Given the description of an element on the screen output the (x, y) to click on. 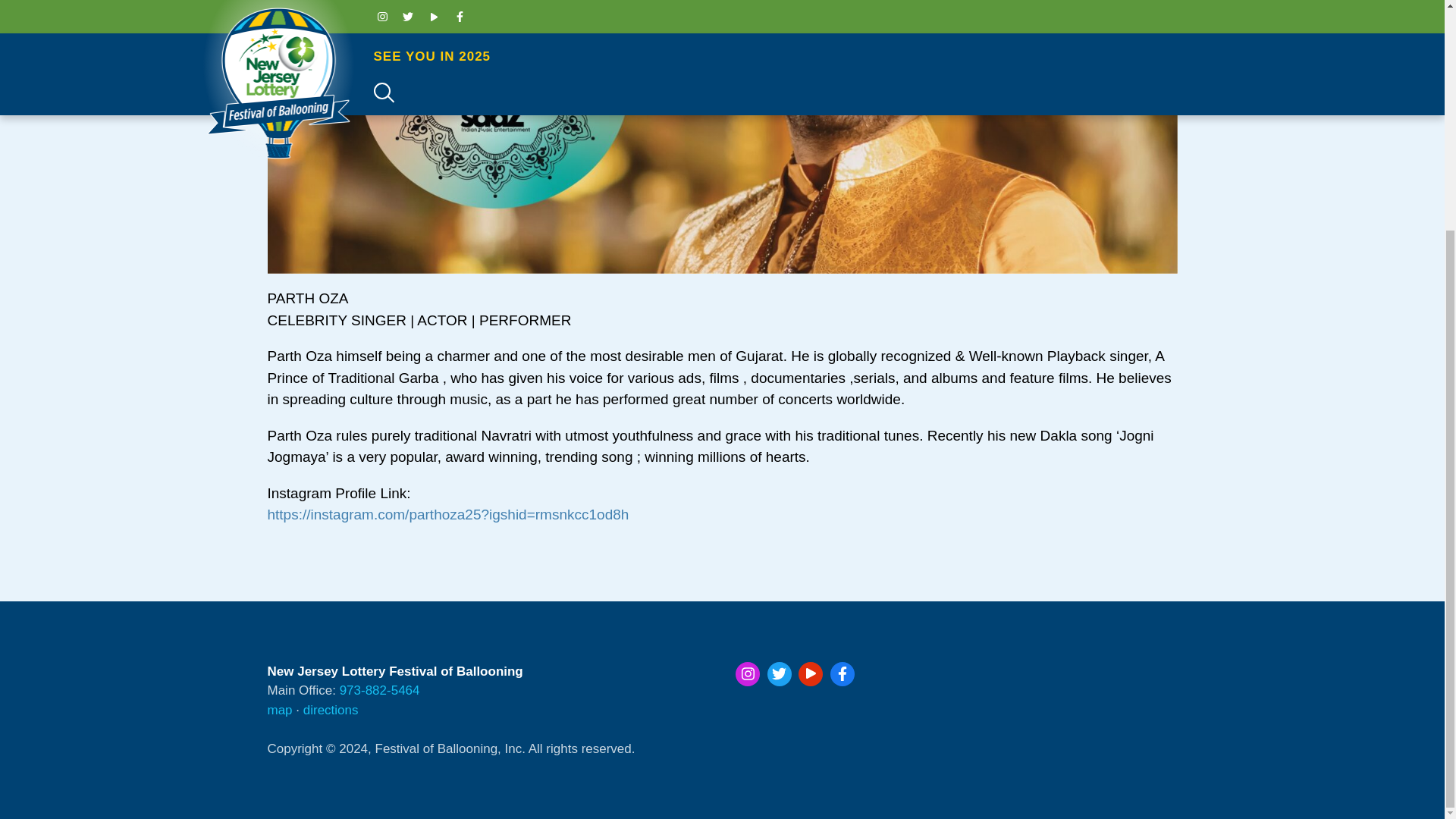
directions (330, 708)
973-882-5464 (379, 690)
map (279, 708)
